Given the description of an element on the screen output the (x, y) to click on. 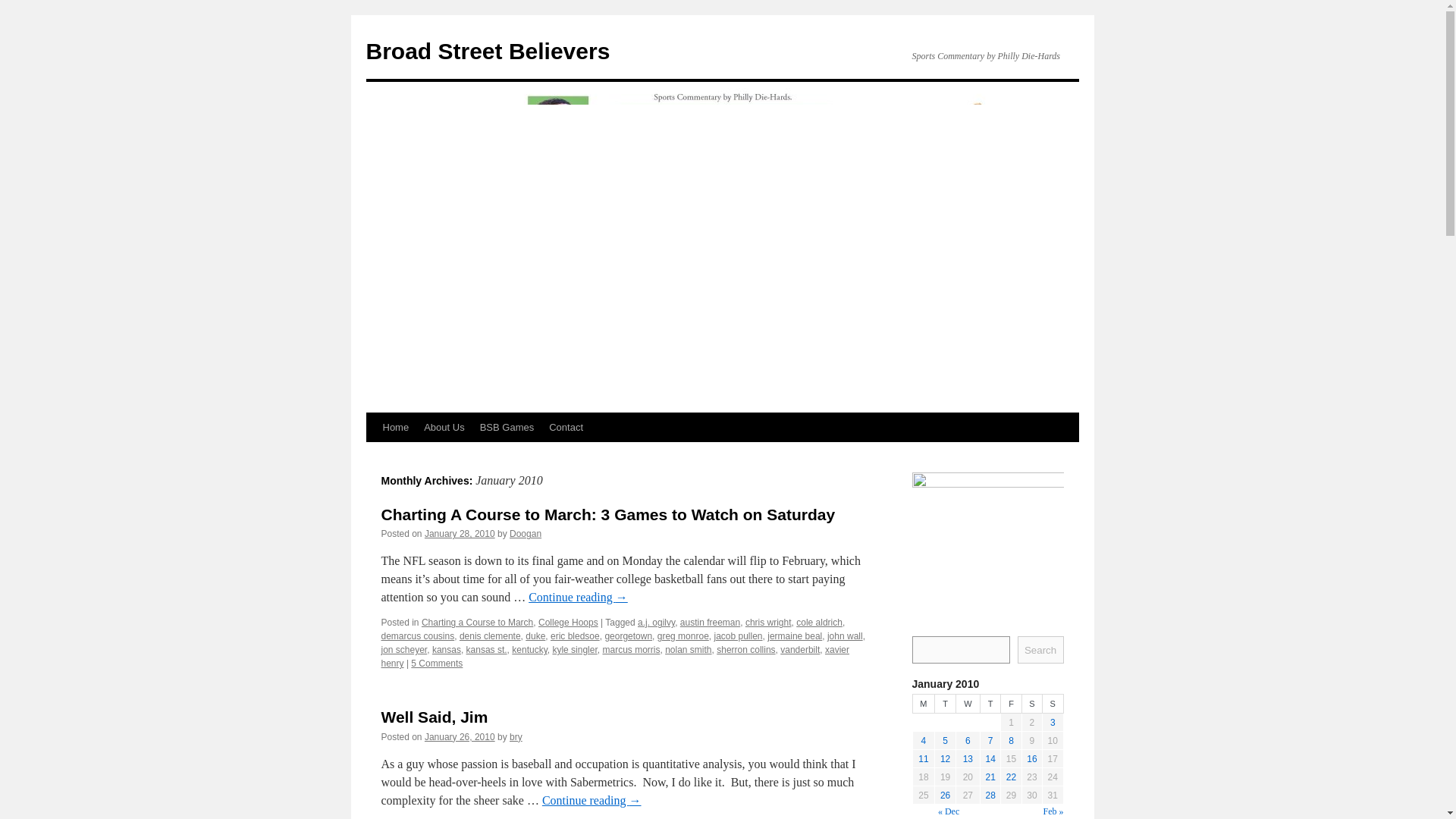
xavier henry (614, 656)
2:36 pm (460, 737)
BSB Games (506, 427)
demarcus cousins (417, 635)
nolan smith (688, 649)
sherron collins (745, 649)
College Hoops (568, 622)
Home (395, 427)
View all posts by bry (515, 737)
5 Comments (436, 663)
john wall (845, 635)
jon scheyer (403, 649)
greg monroe (683, 635)
austin freeman (709, 622)
January 28, 2010 (460, 533)
